Given the description of an element on the screen output the (x, y) to click on. 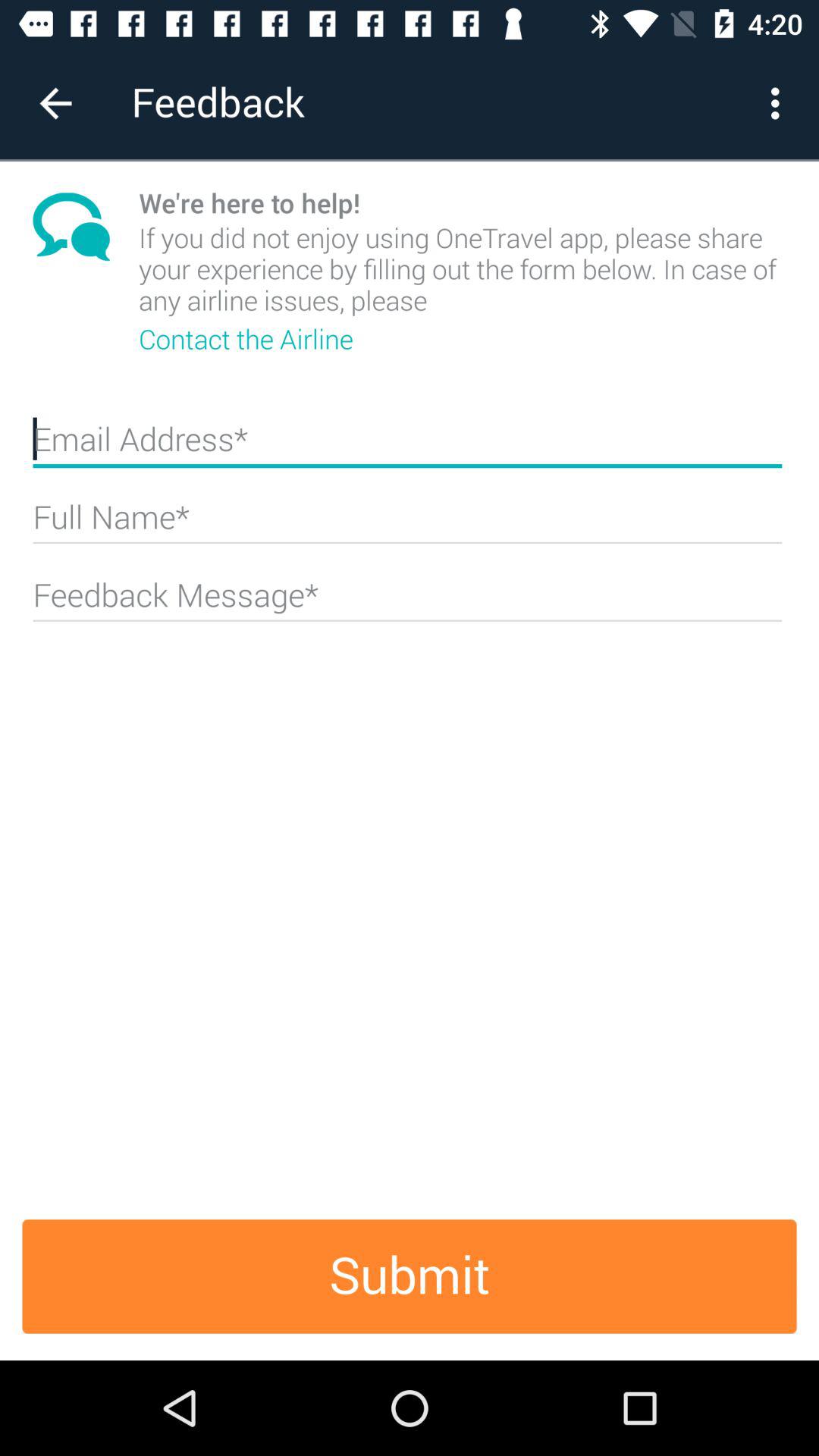
turn on the item at the top right corner (779, 103)
